Given the description of an element on the screen output the (x, y) to click on. 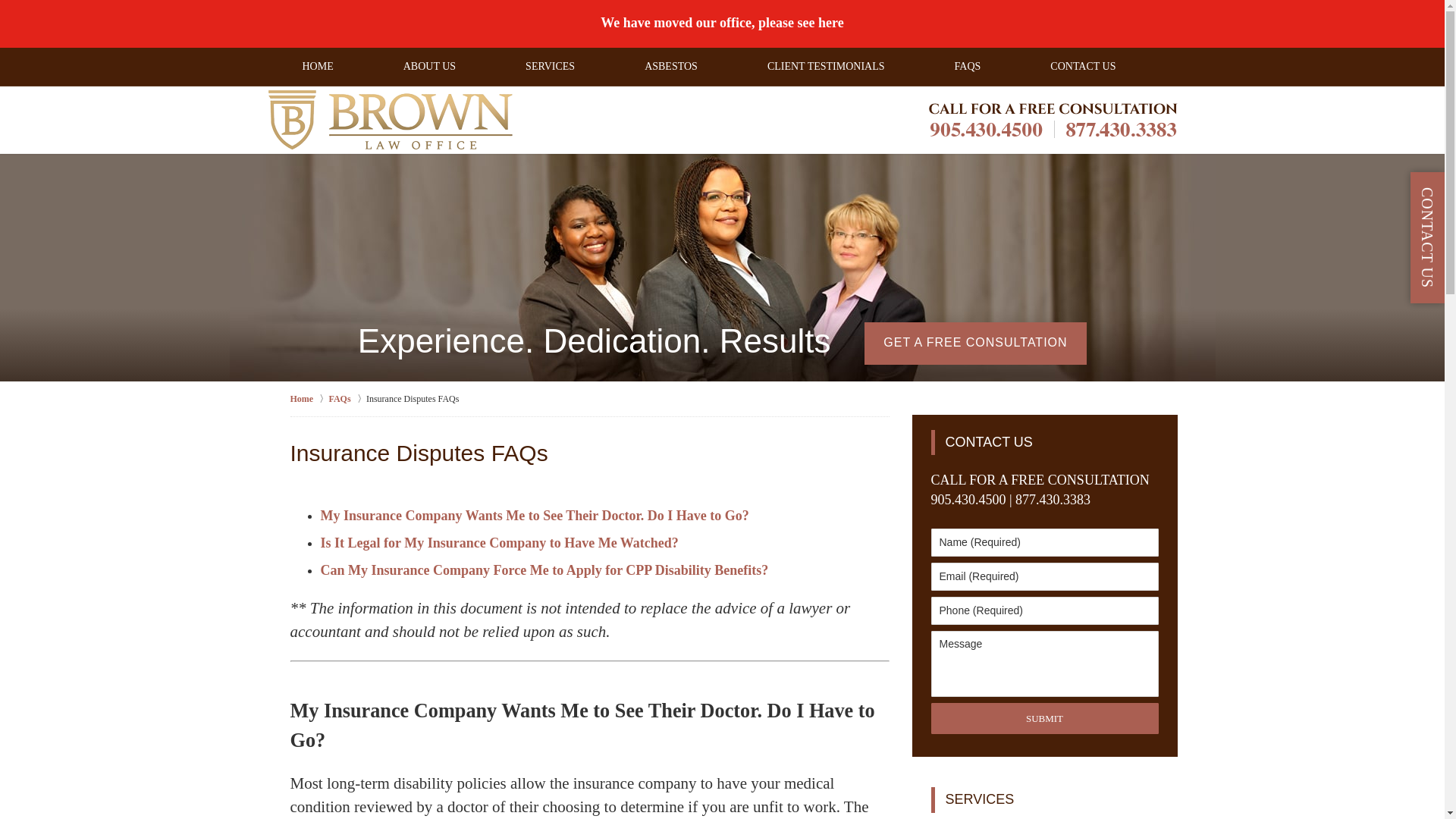
ABOUT US (429, 65)
Home (309, 397)
here (831, 22)
SERVICES (1045, 799)
CONTACT US (1082, 65)
CLIENT TESTIMONIALS (826, 65)
GET A FREE CONSULTATION (975, 343)
CONTACT US (1045, 442)
Back to Home (389, 119)
FAQS (968, 65)
